Given the description of an element on the screen output the (x, y) to click on. 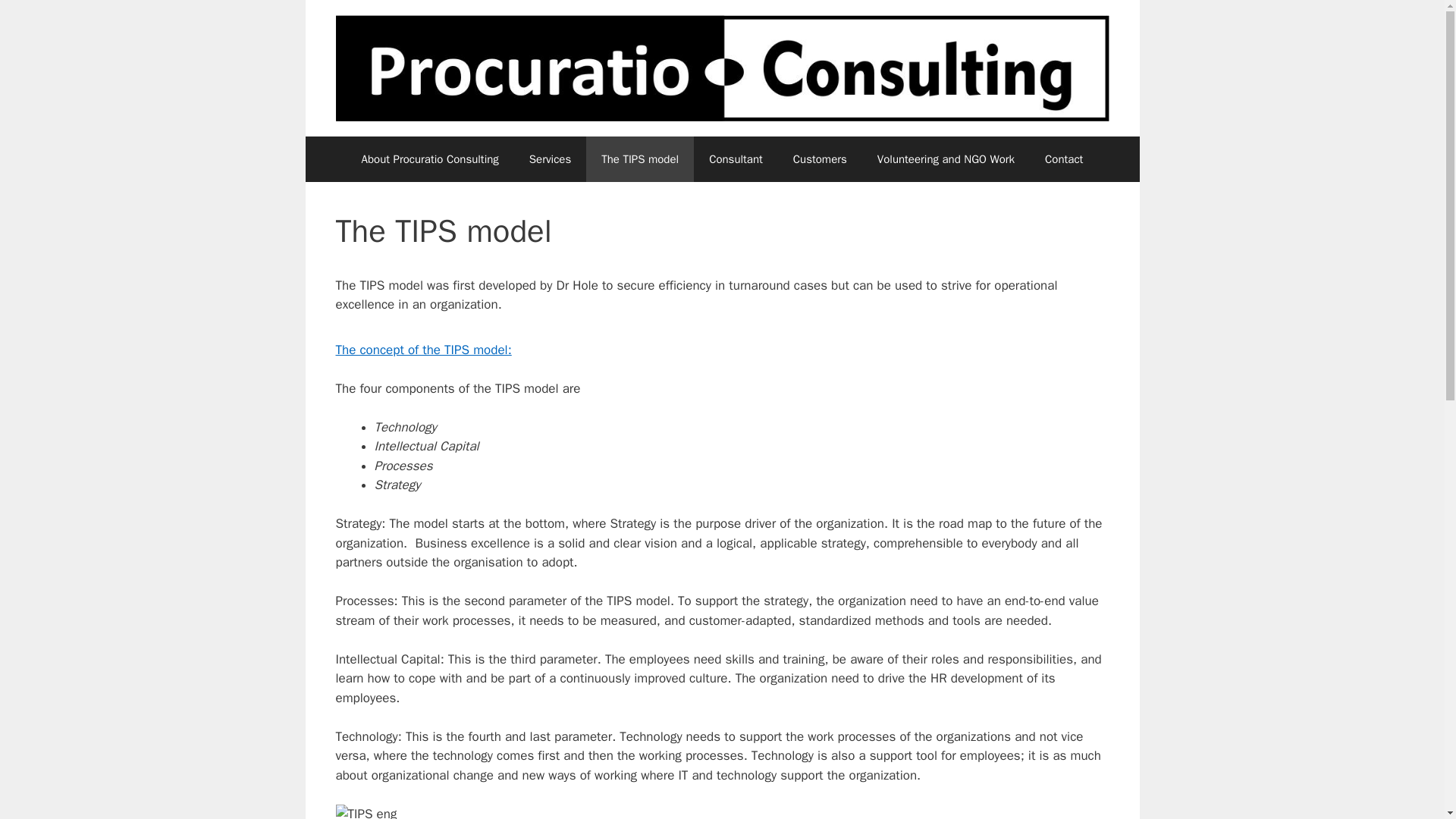
Contact (1063, 158)
Consultant (735, 158)
Volunteering and NGO Work (945, 158)
The concept of the TIPS model: (422, 349)
Customers (819, 158)
About Procuratio Consulting (429, 158)
The TIPS model (640, 158)
Services (549, 158)
